Given the description of an element on the screen output the (x, y) to click on. 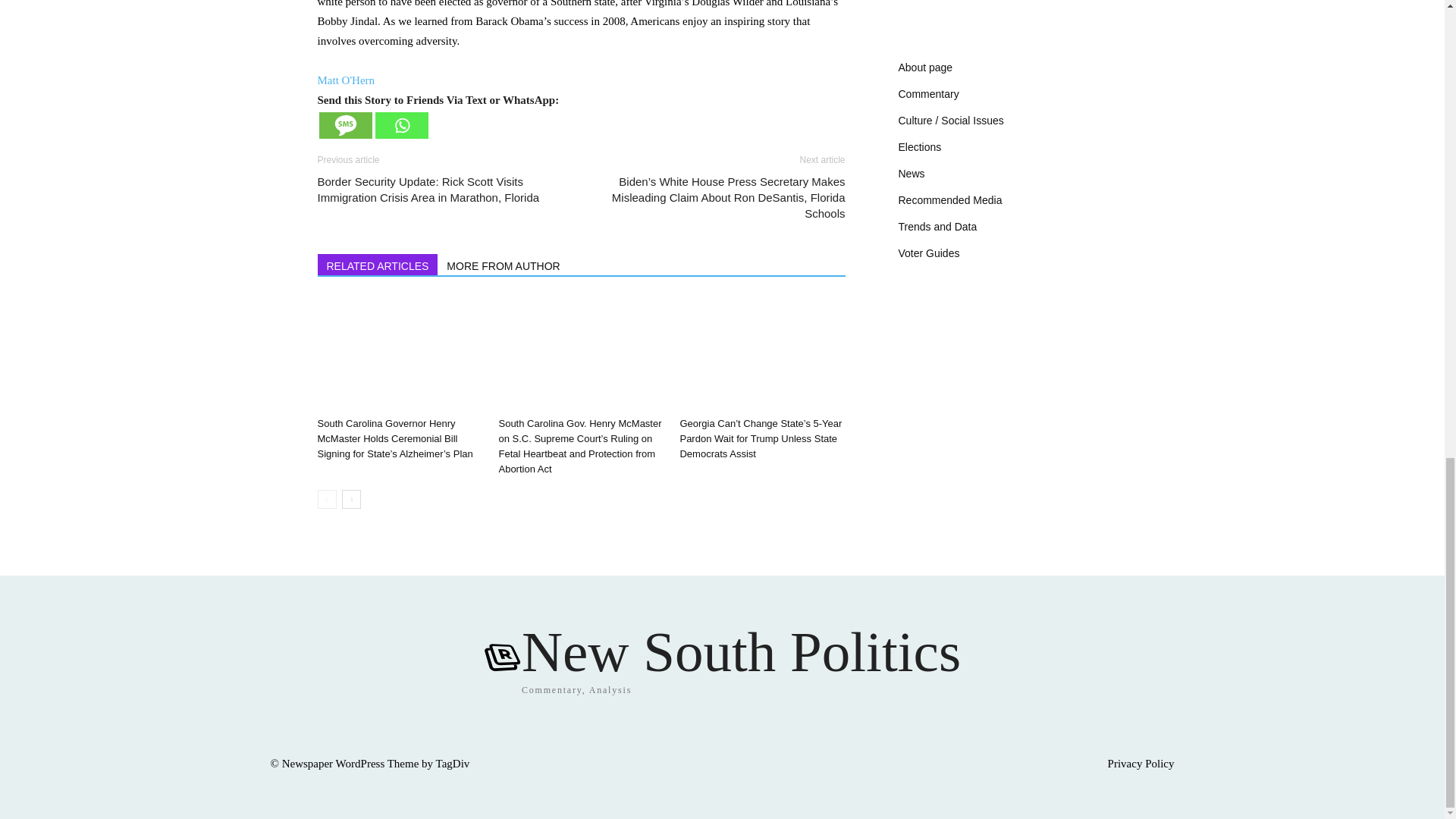
SMS (344, 125)
RELATED ARTICLES (377, 264)
Matt O'Hern (345, 80)
About page (925, 67)
Commentary (928, 93)
MORE FROM AUTHOR (503, 264)
Elections (919, 146)
Whatsapp (401, 125)
